Given the description of an element on the screen output the (x, y) to click on. 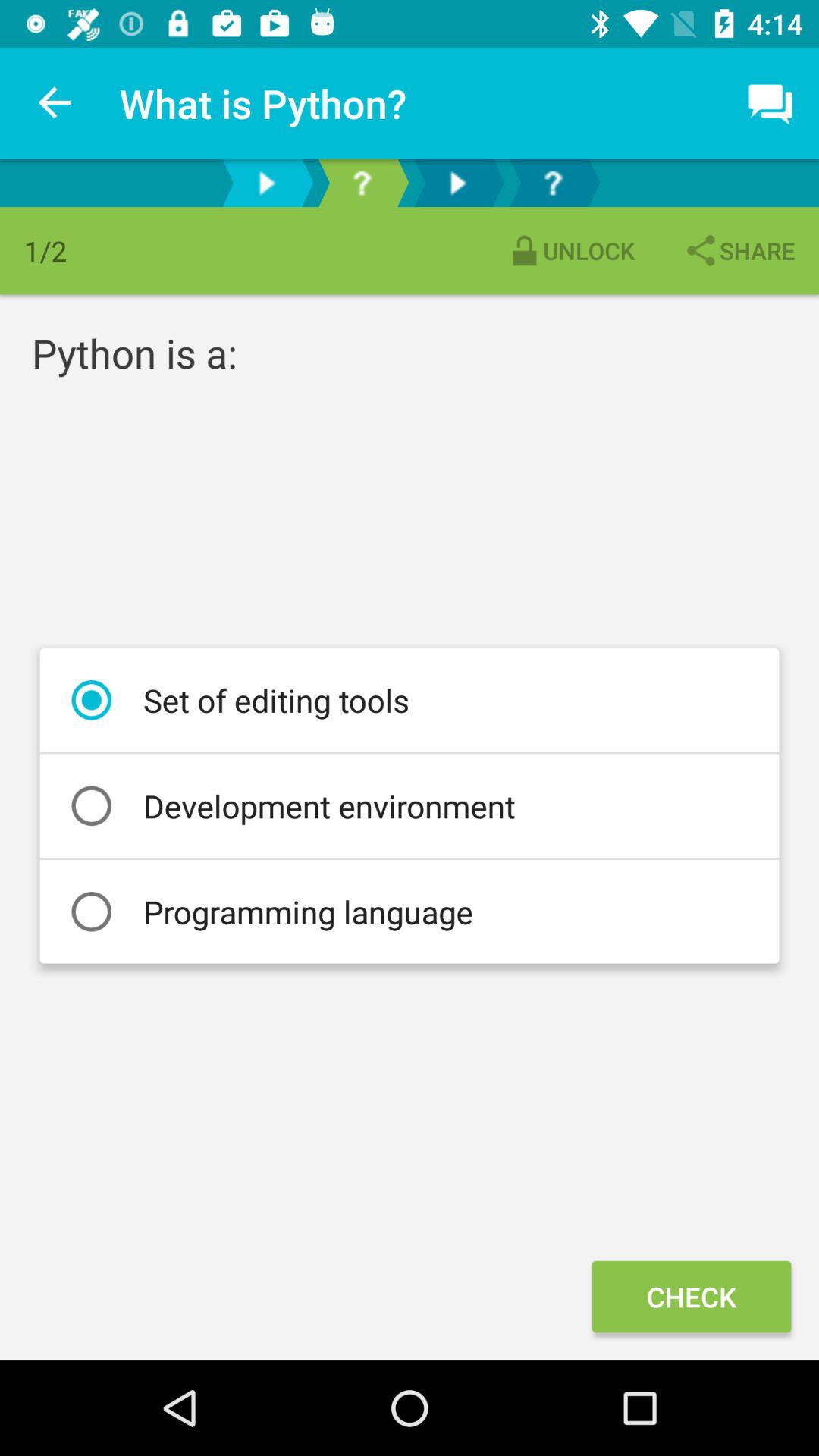
help tab (552, 183)
